Given the description of an element on the screen output the (x, y) to click on. 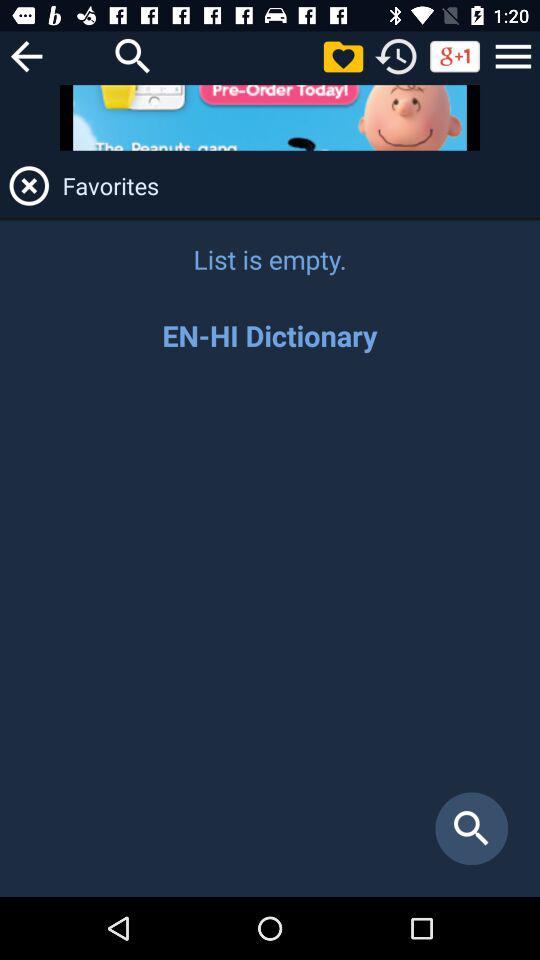
save as favorite (343, 56)
